Given the description of an element on the screen output the (x, y) to click on. 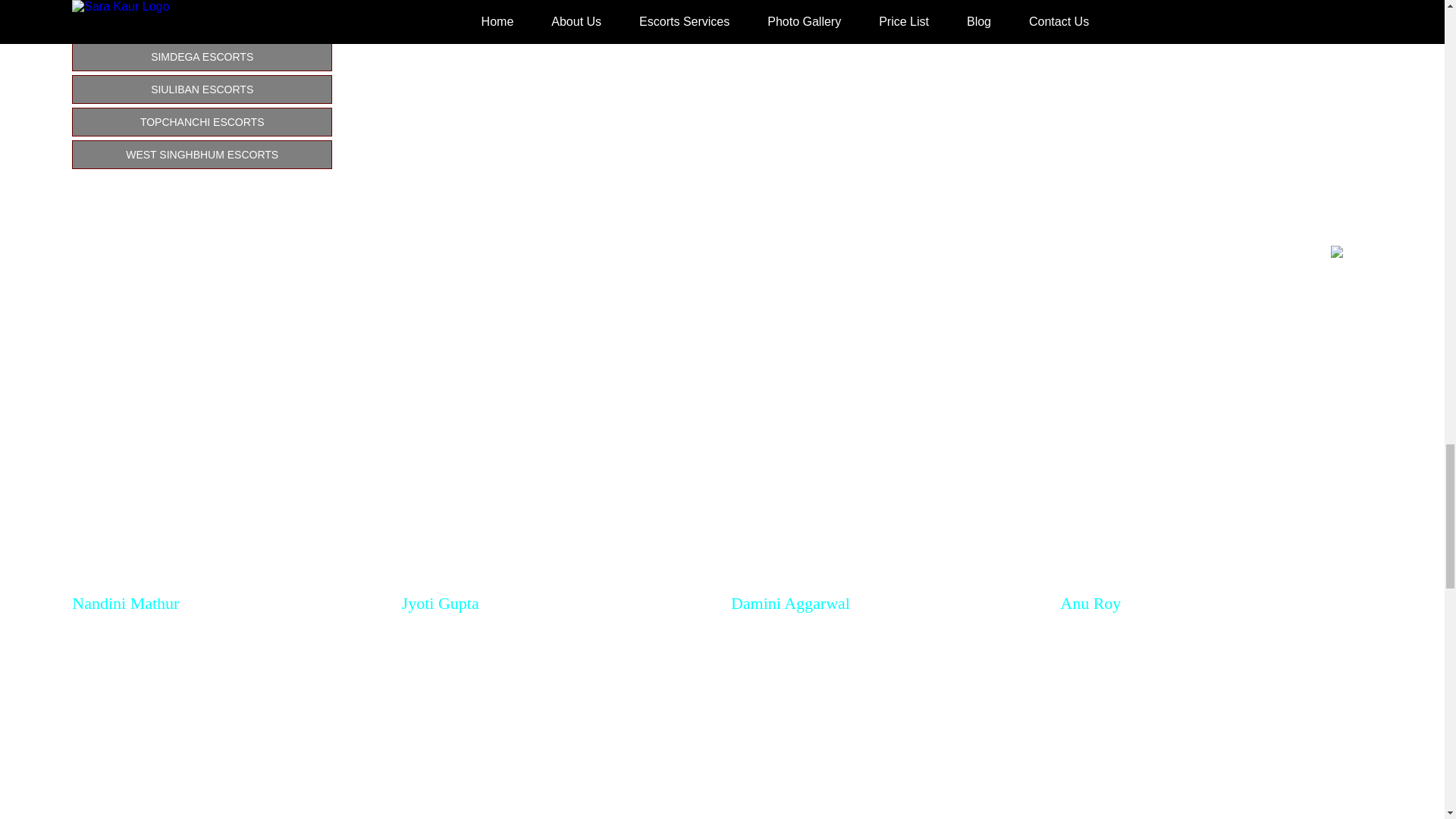
Noor Yadav Escort Girl (1215, 723)
Pallavi Singh Escort Girl (557, 723)
Sonia Sharma Escort Girl (886, 723)
Pari Mathur Escort Girl (227, 723)
Anu Roy Escort Girl (1215, 396)
Jyoti Gupta Escort Girl (557, 396)
Damini Aggarwal Escort Girl (886, 396)
Nandini Mathur Escort Girl (227, 396)
